Given the description of an element on the screen output the (x, y) to click on. 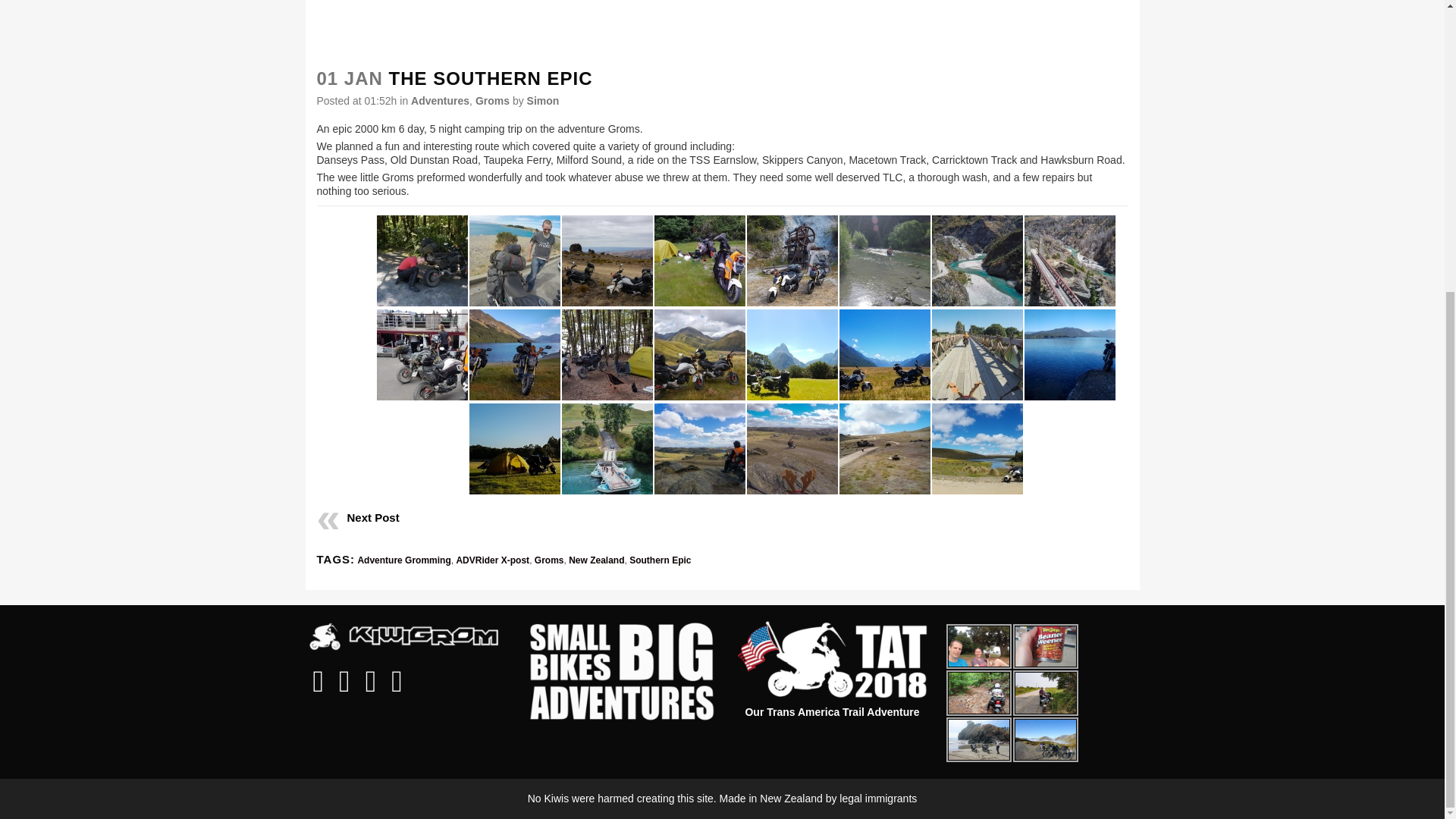
Skippers Canyon (976, 260)
The Nevis (606, 260)
Macetown Track (884, 260)
Milford Road repair (421, 260)
Macetown Camp (698, 260)
Skippers Canyon Bridge (1069, 260)
Macetown Battery (791, 260)
A fan at Lake Pukaki (513, 260)
